Given the description of an element on the screen output the (x, y) to click on. 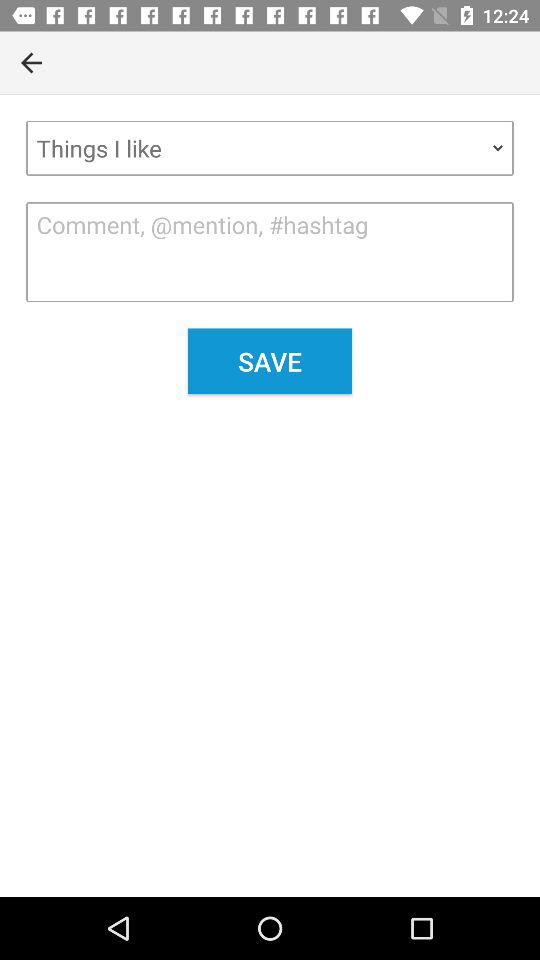
type any comment (269, 252)
